Given the description of an element on the screen output the (x, y) to click on. 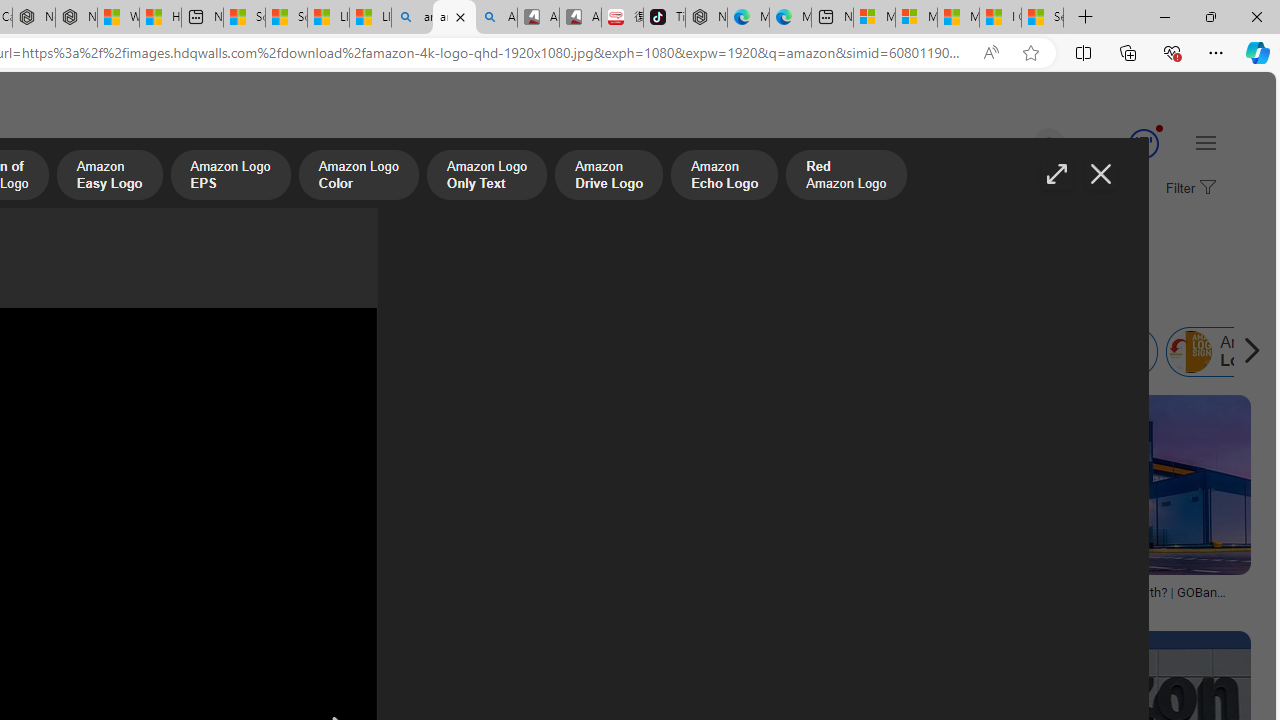
Amazon Forest (475, 351)
How Much Is Amazon's Net Worth? | GOBankingRates (1103, 598)
Amazon Egypt (901, 351)
theverge.com (524, 606)
Amazon Shoes (618, 351)
Amazon Echo Robot - Search Images (496, 17)
